Given the description of an element on the screen output the (x, y) to click on. 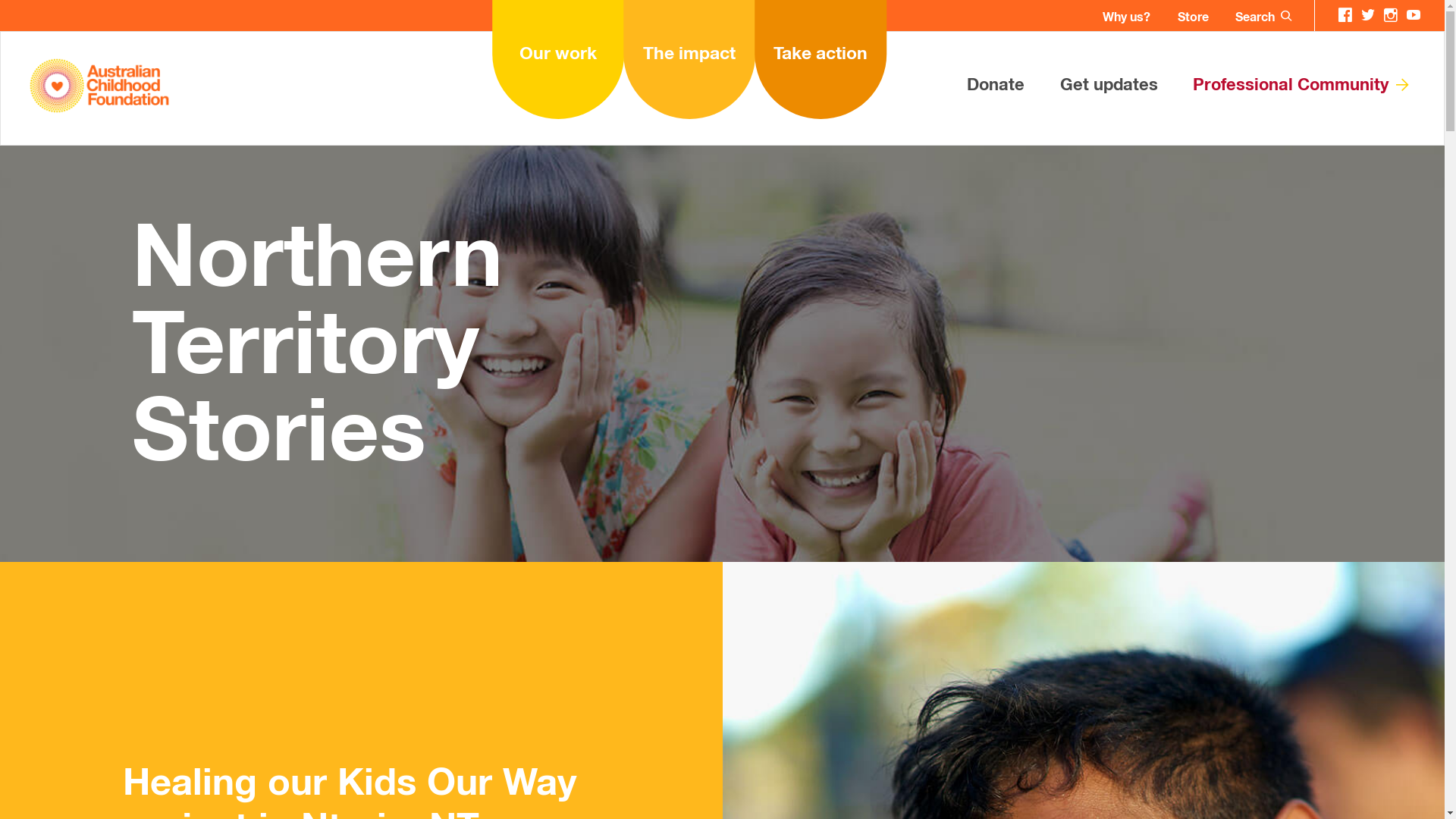
Professional Community Element type: text (1301, 86)
Search Element type: text (1254, 17)
Get updates Element type: text (1108, 86)
Why us? Element type: text (1126, 17)
Donate Element type: text (995, 86)
Store Element type: text (1192, 17)
